Given the description of an element on the screen output the (x, y) to click on. 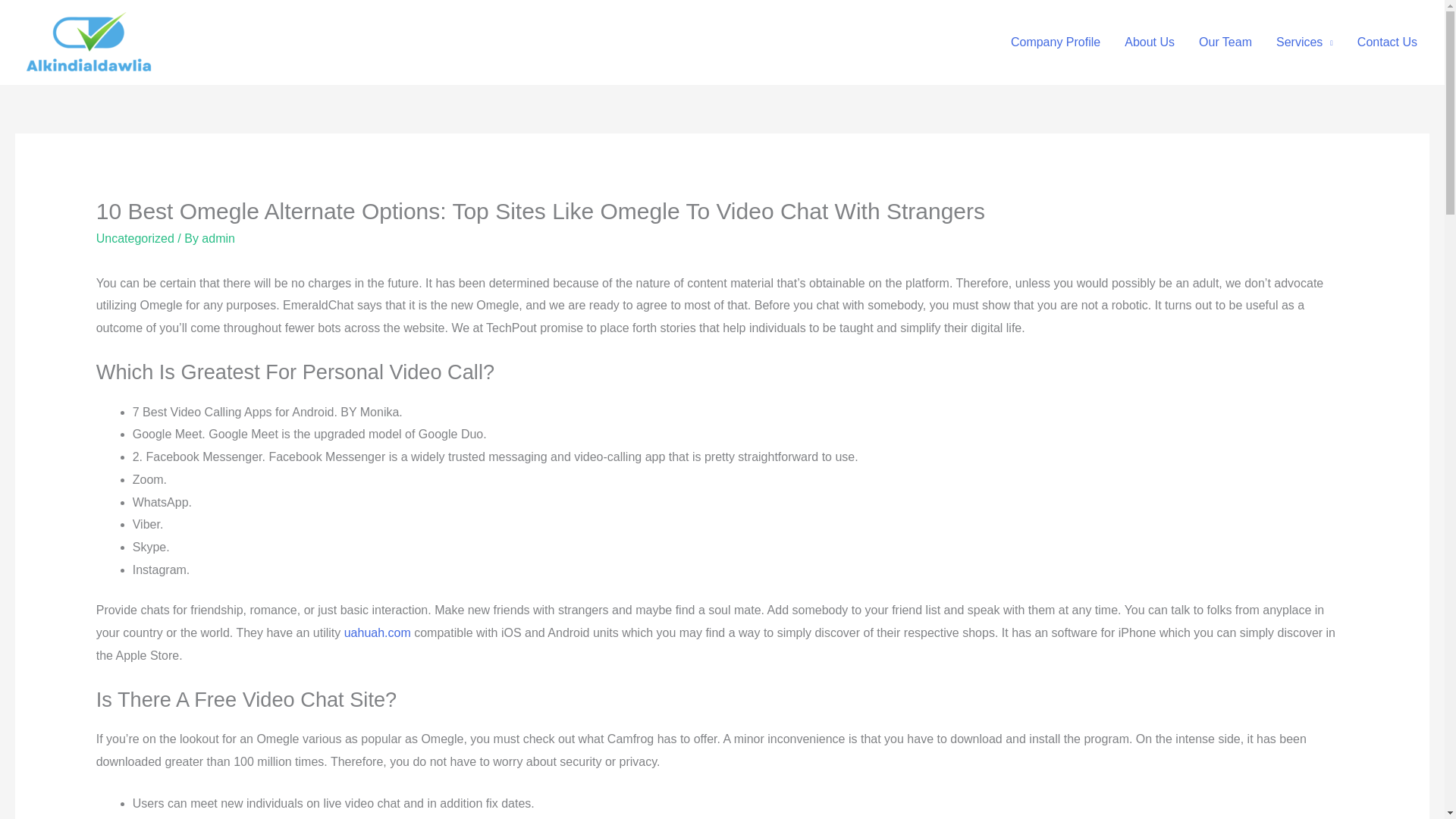
Contact Us (1387, 41)
uahuah.com (376, 632)
View all posts by admin (218, 237)
Our Team (1224, 41)
About Us (1149, 41)
Services (1304, 41)
Uncategorized (135, 237)
admin (218, 237)
Company Profile (1055, 41)
